Given the description of an element on the screen output the (x, y) to click on. 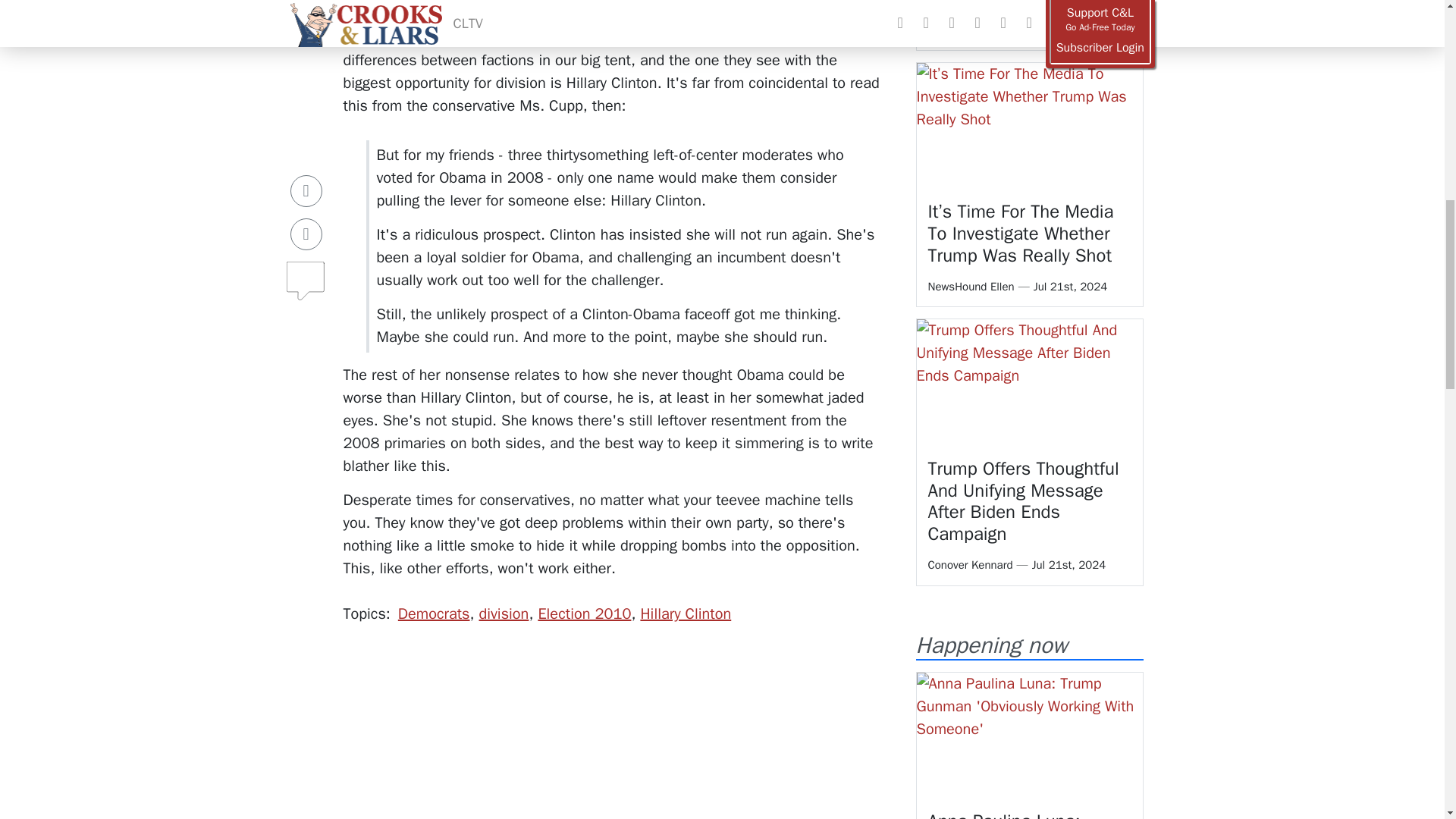
division (504, 613)
Election 2010 (583, 613)
Hillary Clinton (685, 613)
Democrats (433, 613)
